Given the description of an element on the screen output the (x, y) to click on. 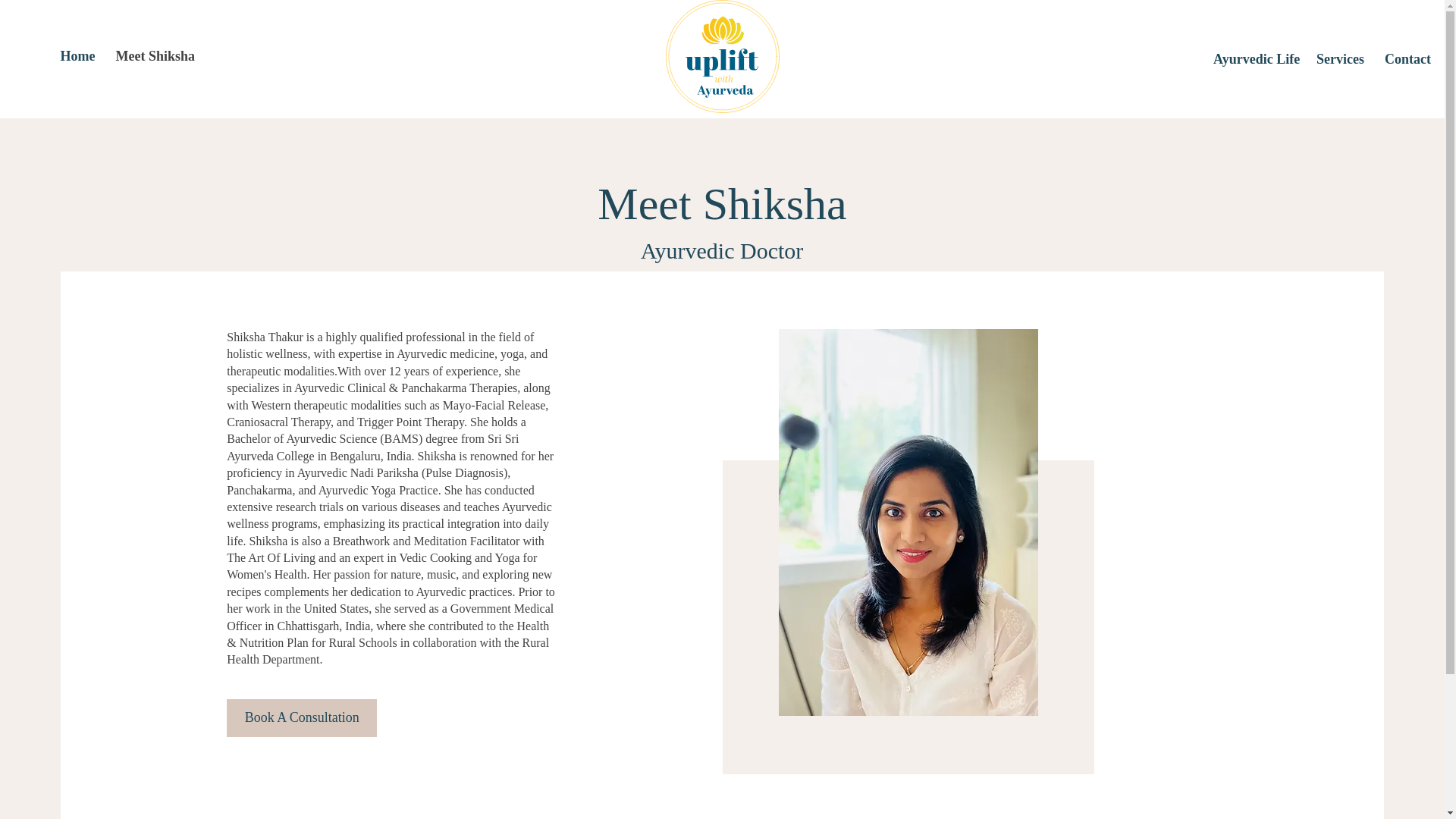
Ayurvedic Life (1253, 58)
Contact (1405, 58)
Home (75, 55)
Book A Consultation (302, 718)
Meet Shiksha (153, 55)
Services (1338, 58)
